Given the description of an element on the screen output the (x, y) to click on. 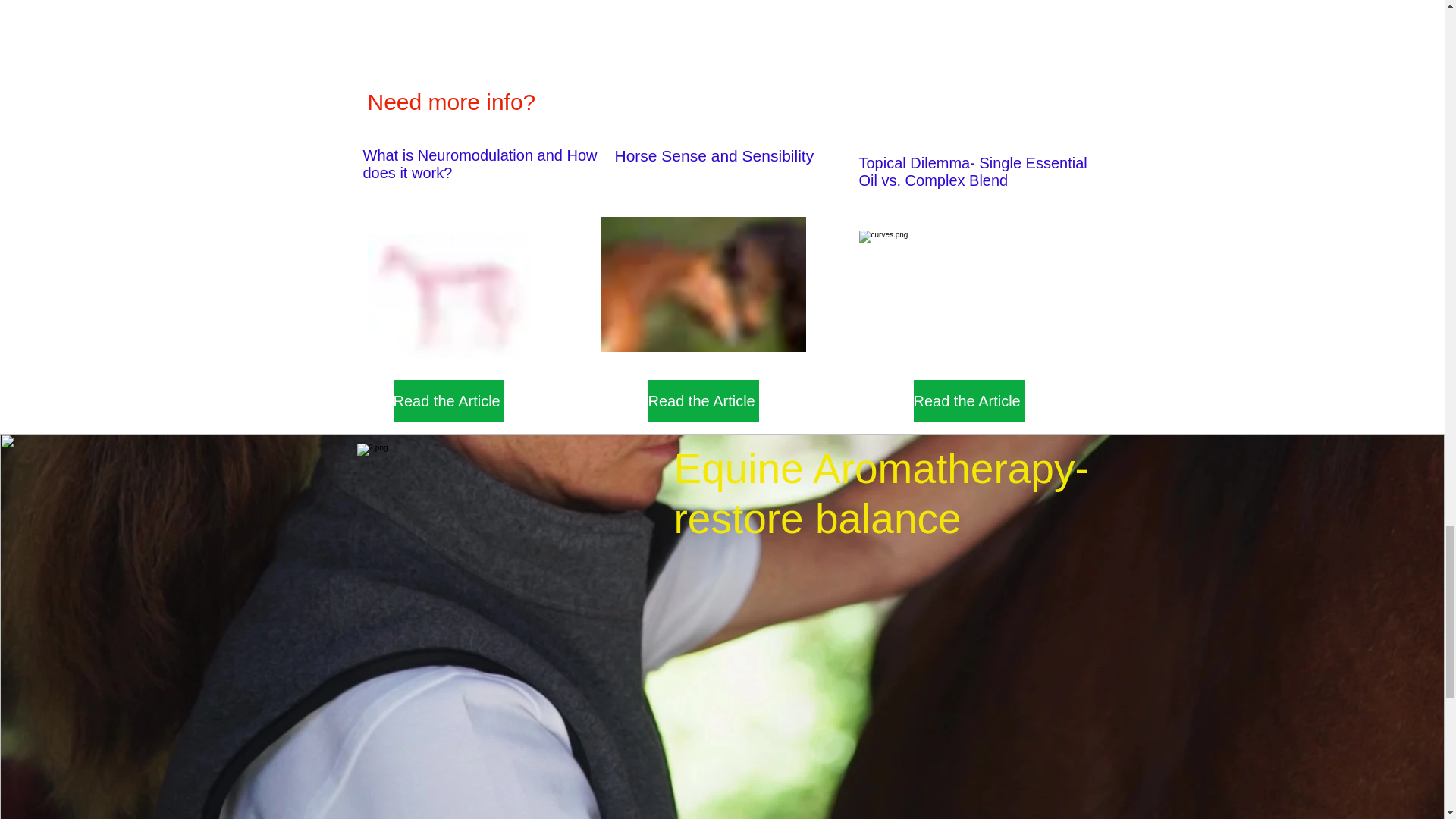
Read the Article (448, 401)
Read the Article (702, 401)
Read the Article (967, 401)
